Given the description of an element on the screen output the (x, y) to click on. 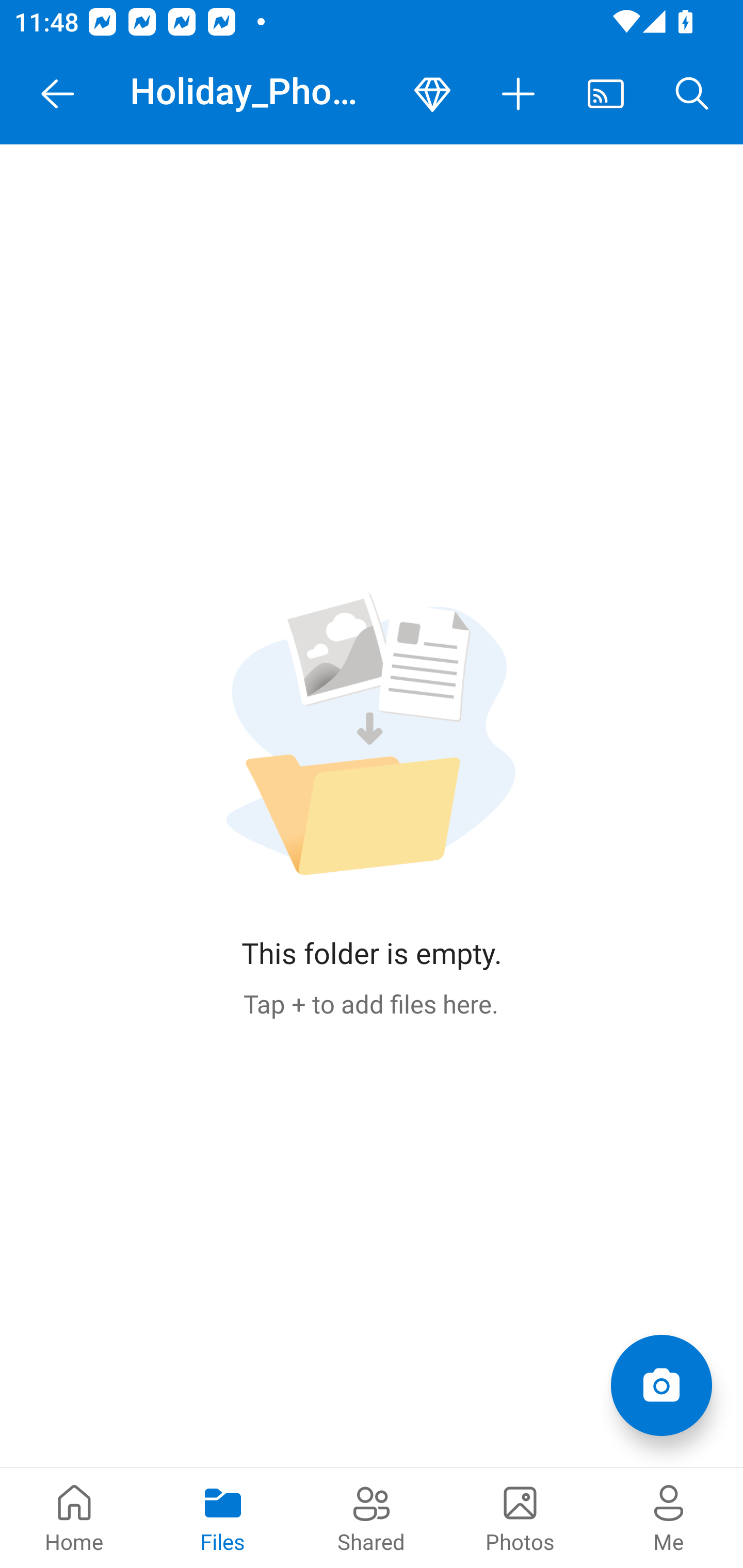
Navigate Up (57, 93)
Cast. Disconnected (605, 93)
Premium button (432, 93)
More actions button (518, 93)
Search button (692, 93)
Add items Scan (660, 1385)
Home pivot Home (74, 1517)
Shared pivot Shared (371, 1517)
Photos pivot Photos (519, 1517)
Me pivot Me (668, 1517)
